Given the description of an element on the screen output the (x, y) to click on. 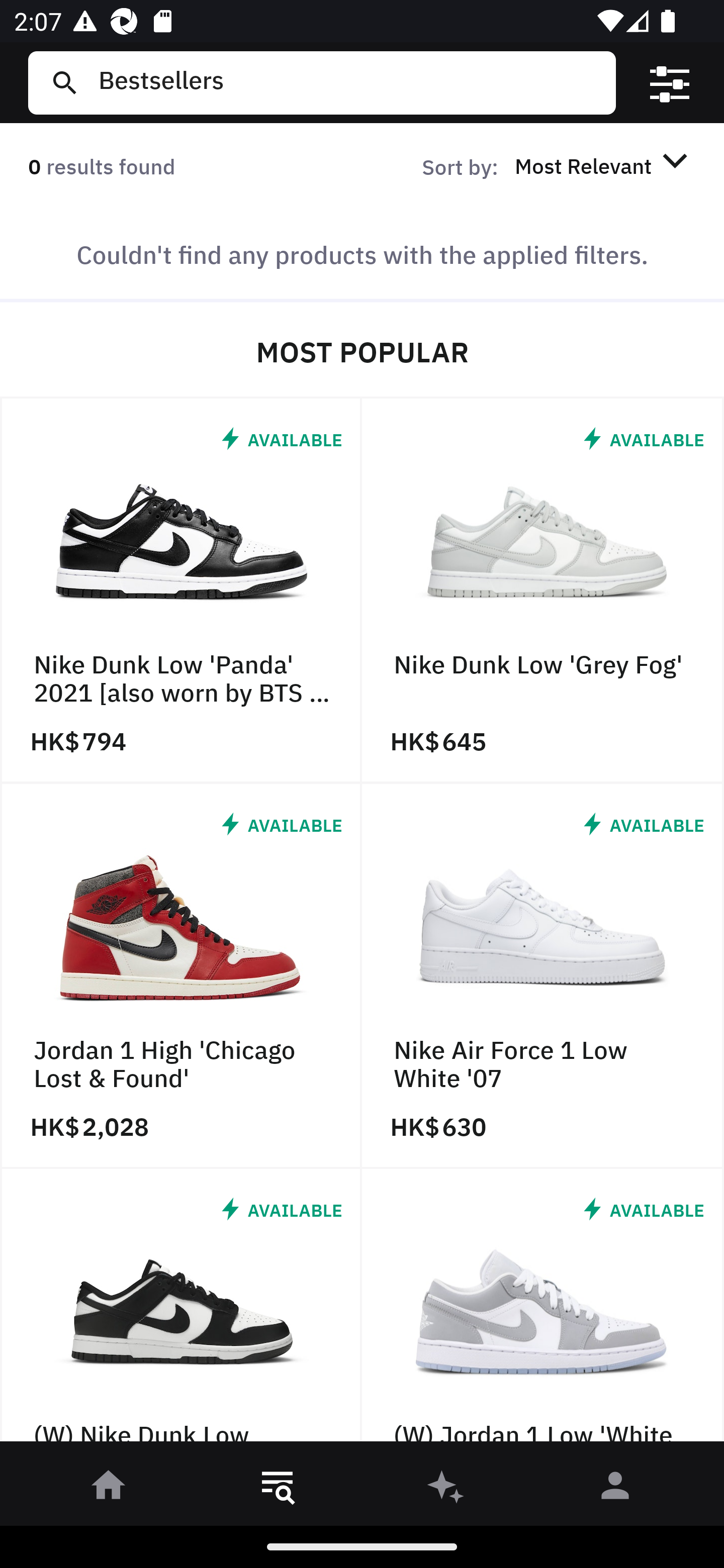
Bestsellers (349, 82)
 (669, 82)
Most Relevant  (604, 165)
 AVAILABLE Nike Dunk Low 'Grey Fog' HK$ 645 (543, 591)
 AVAILABLE Nike Air Force 1 Low White '07 HK$ 630 (543, 976)
 AVAILABLE (W) Nike Dunk Low 'Panda' 2021 (181, 1309)
 AVAILABLE (W) Jordan 1 Low 'White Wolf Grey' (543, 1309)
󰋜 (108, 1488)
󱎸 (277, 1488)
󰫢 (446, 1488)
󰀄 (615, 1488)
